Given the description of an element on the screen output the (x, y) to click on. 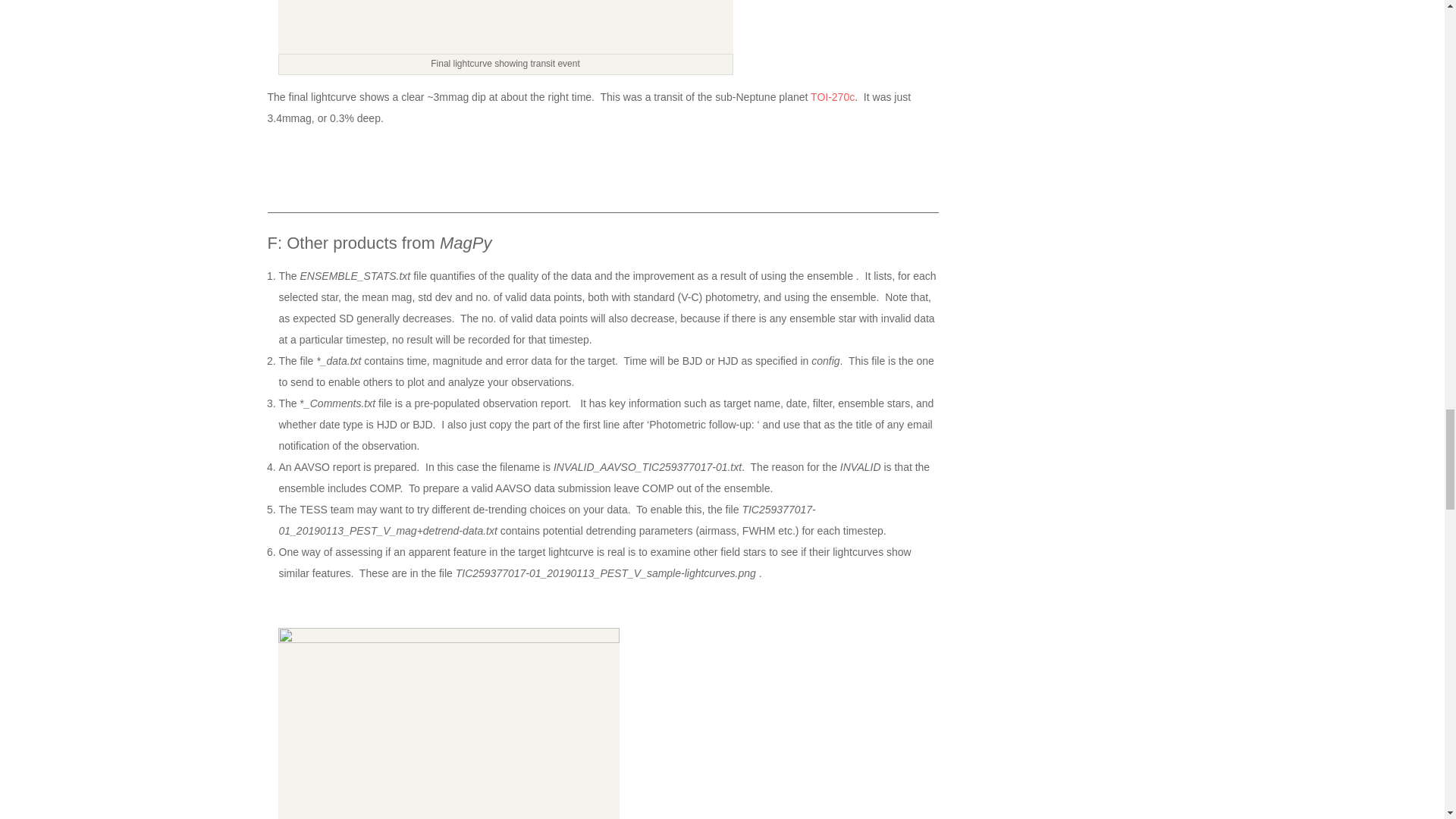
TOI-270c (832, 96)
